Given the description of an element on the screen output the (x, y) to click on. 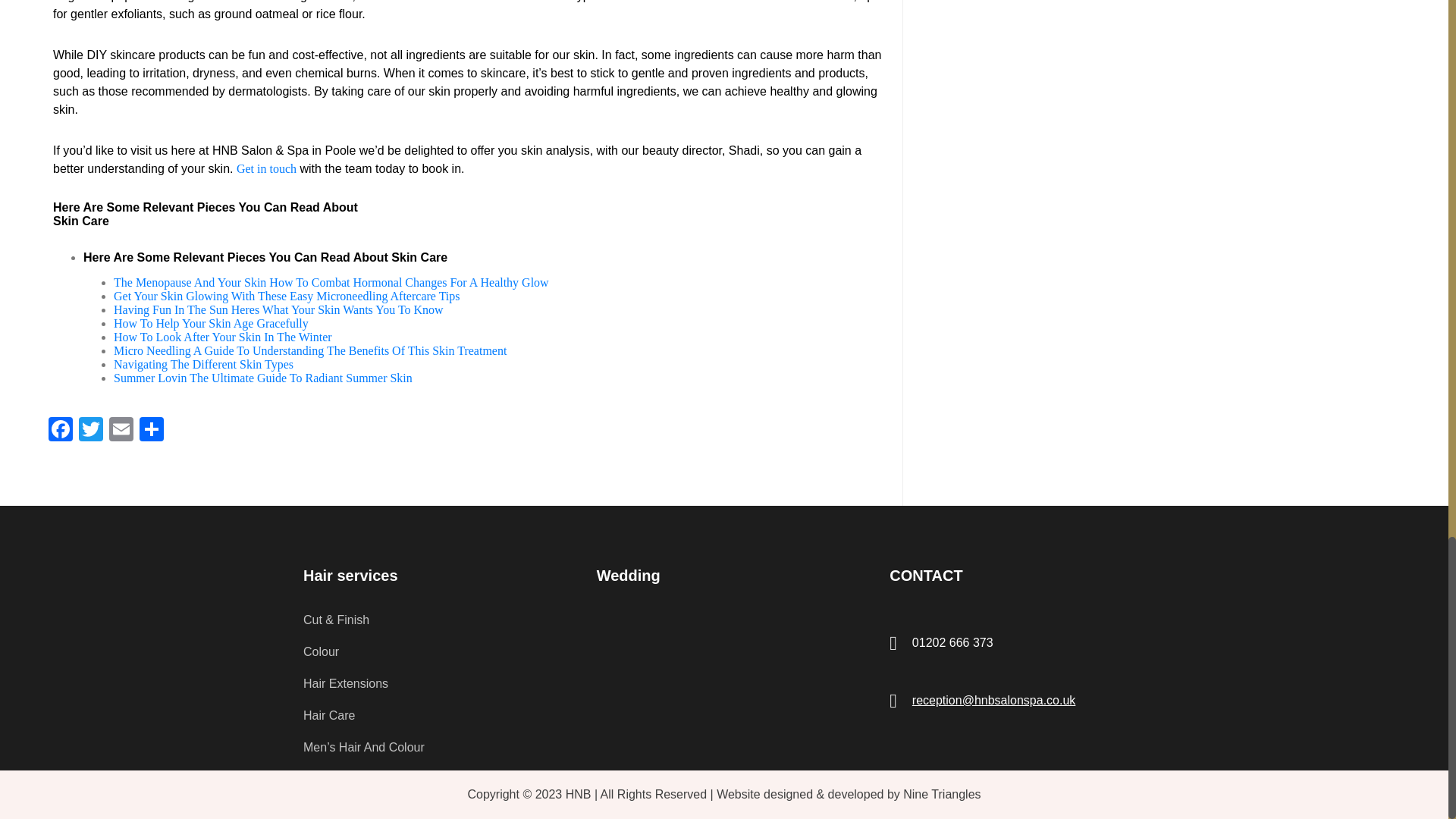
Email (121, 430)
Twitter (90, 430)
Facebook (60, 430)
